Given the description of an element on the screen output the (x, y) to click on. 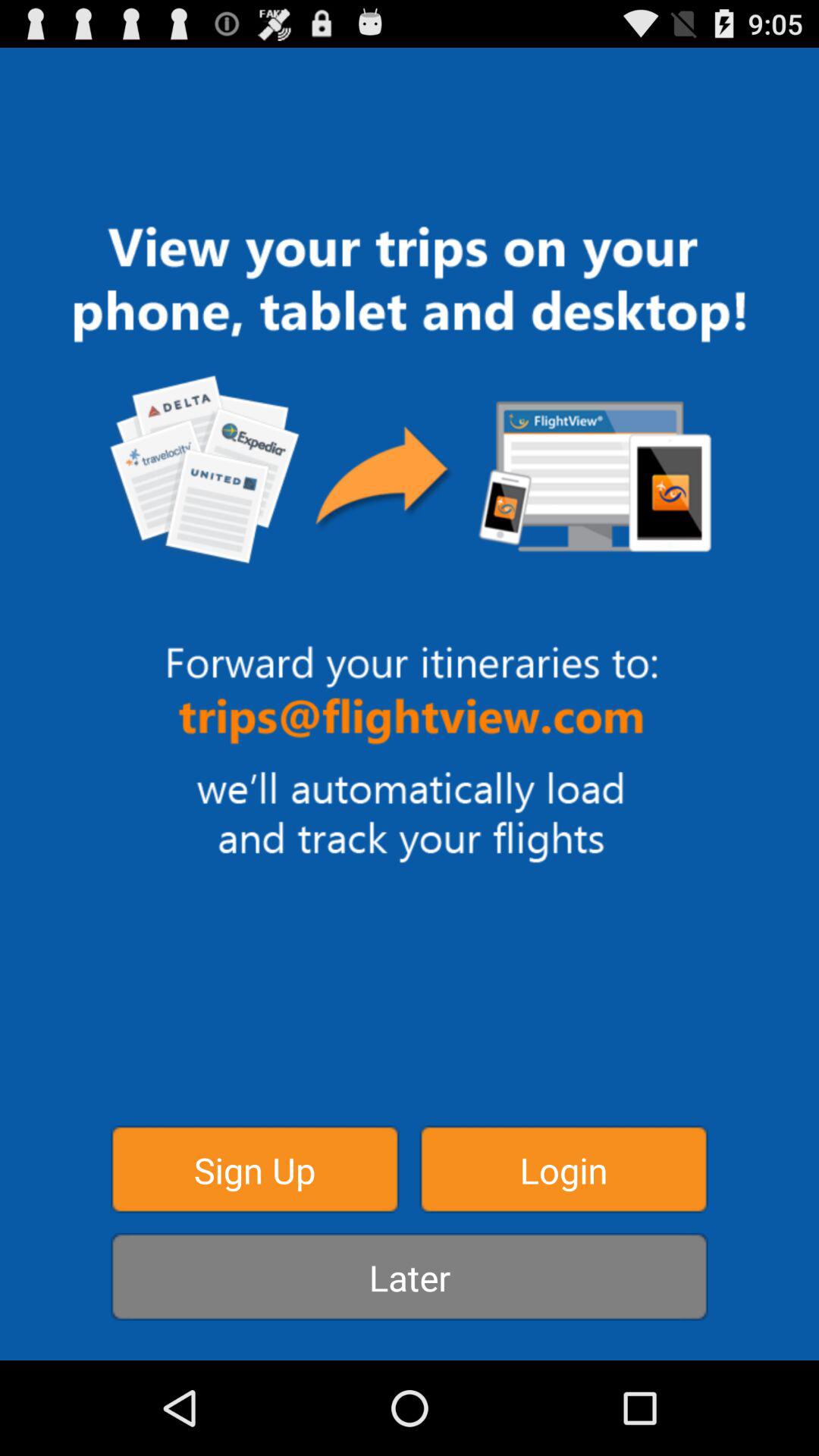
turn on icon above the later icon (563, 1169)
